Given the description of an element on the screen output the (x, y) to click on. 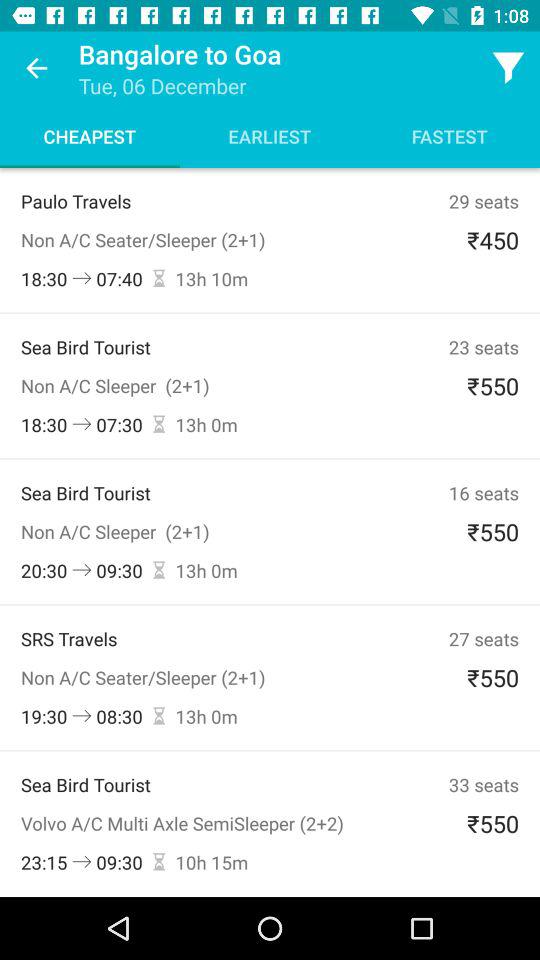
press icon to the left of the bangalore to goa icon (36, 68)
